Given the description of an element on the screen output the (x, y) to click on. 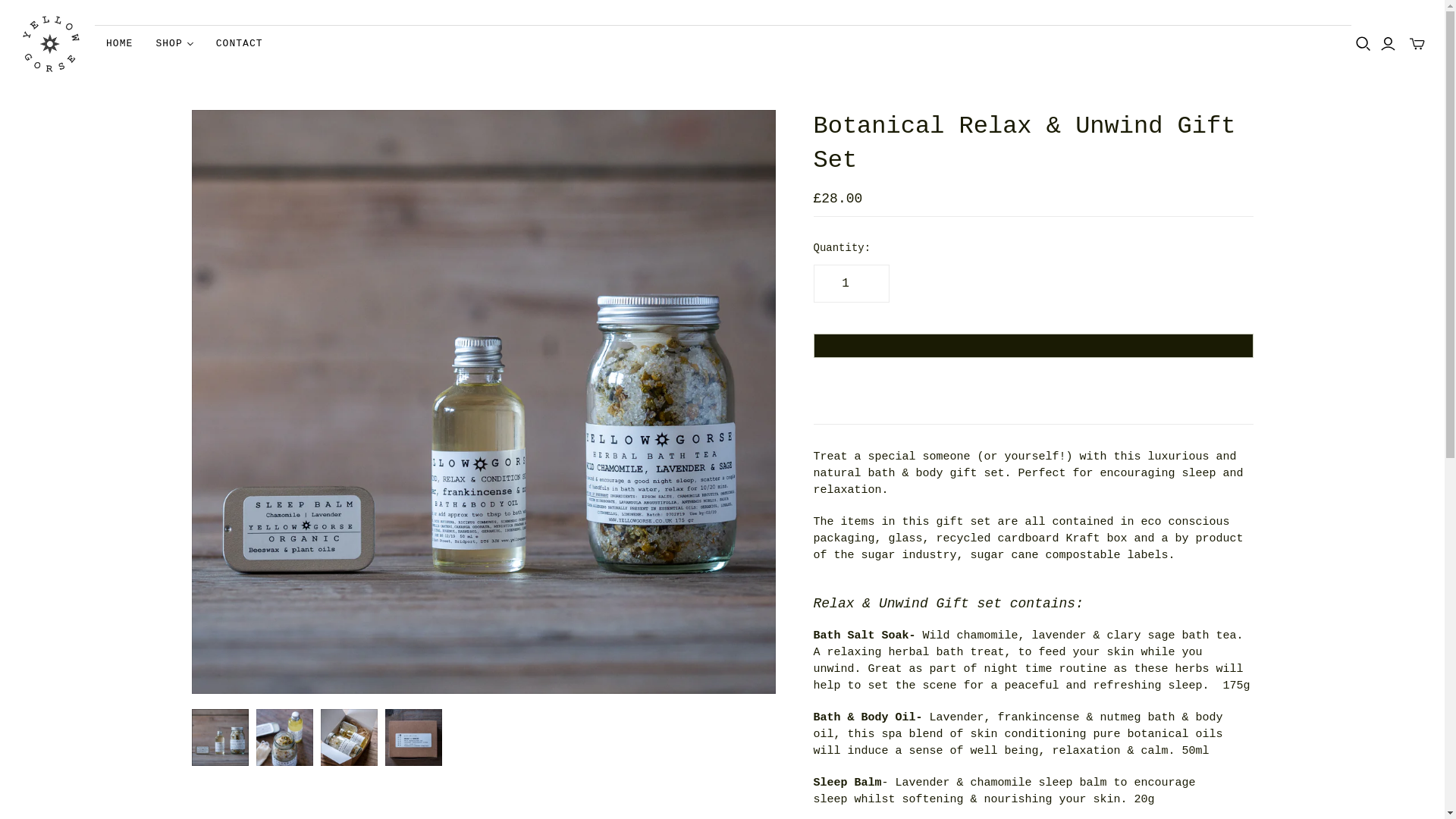
1 (850, 283)
CONTACT (240, 43)
HOME (119, 43)
